Given the description of an element on the screen output the (x, y) to click on. 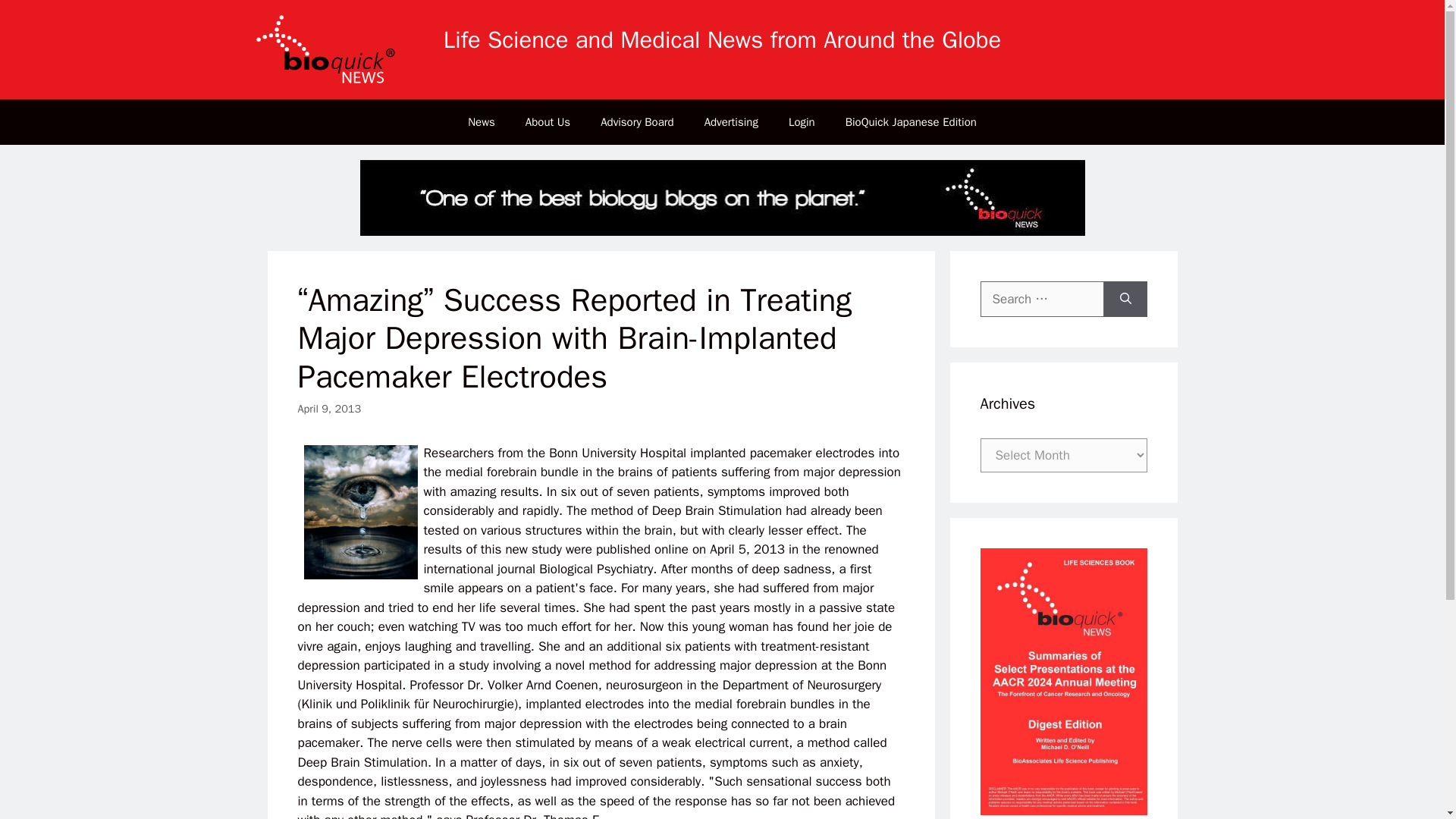
Advertising (730, 121)
About Us (548, 121)
BioQuick Japanese Edition (910, 121)
News (481, 121)
Search for: (1041, 299)
Advisory Board (636, 121)
Login (801, 121)
